Given the description of an element on the screen output the (x, y) to click on. 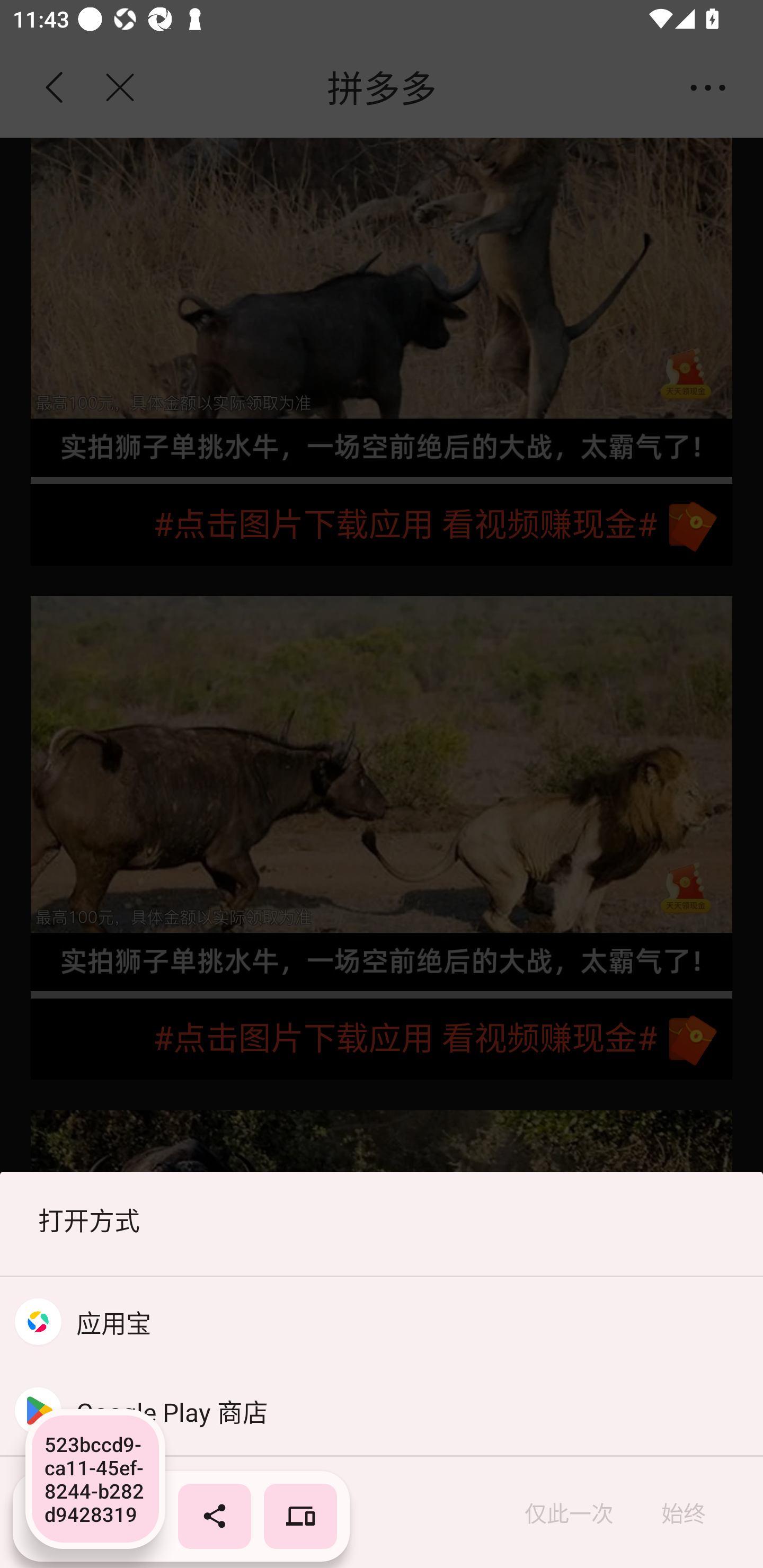
应用宝 (381, 1321)
Google Play 商店 (381, 1410)
仅此一次 (568, 1512)
始终 (683, 1512)
